Given the description of an element on the screen output the (x, y) to click on. 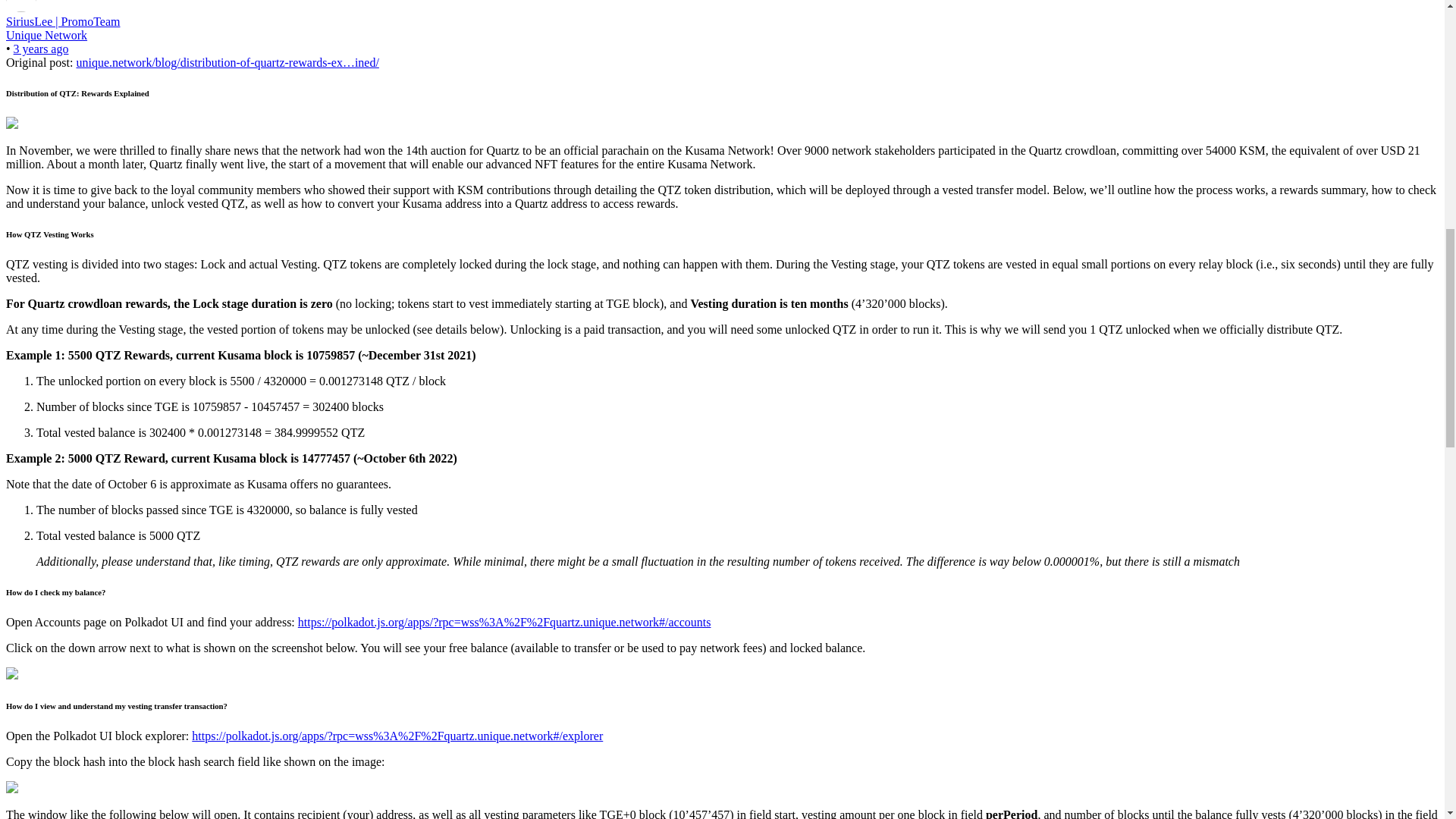
Unique Network (46, 34)
3 years ago (40, 48)
